Given the description of an element on the screen output the (x, y) to click on. 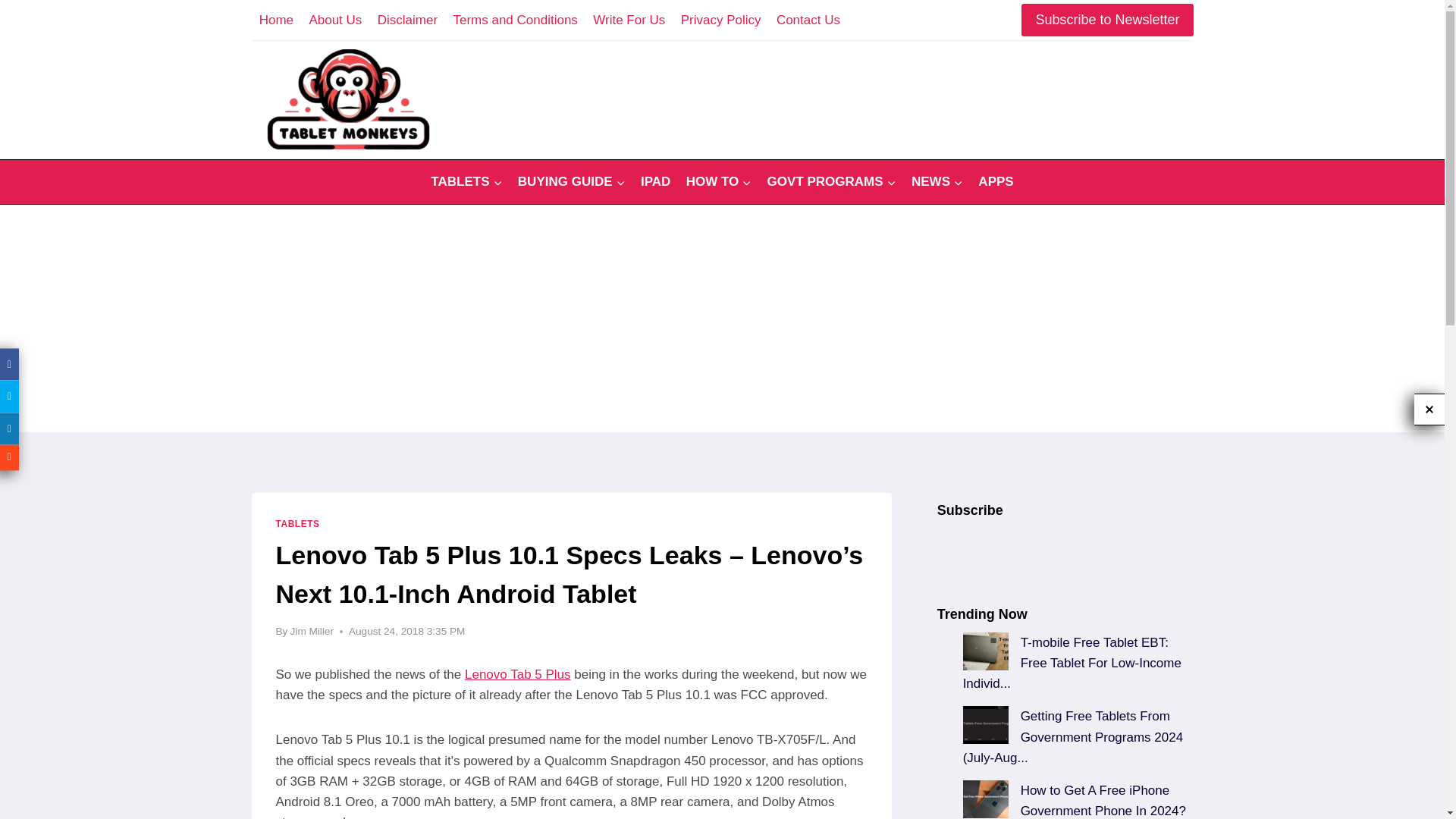
About Us (335, 19)
Home (276, 19)
Disclaimer (407, 19)
Facebook (9, 364)
Lenovo Tab 5 Plus (517, 674)
TABLETS (467, 181)
Write For Us (628, 19)
NEWS (937, 181)
Subscribe to Newsletter (1107, 20)
BUYING GUIDE (572, 181)
GOVT PROGRAMS (830, 181)
Terms and Conditions (515, 19)
HOW TO (718, 181)
TABLETS (298, 523)
